Given the description of an element on the screen output the (x, y) to click on. 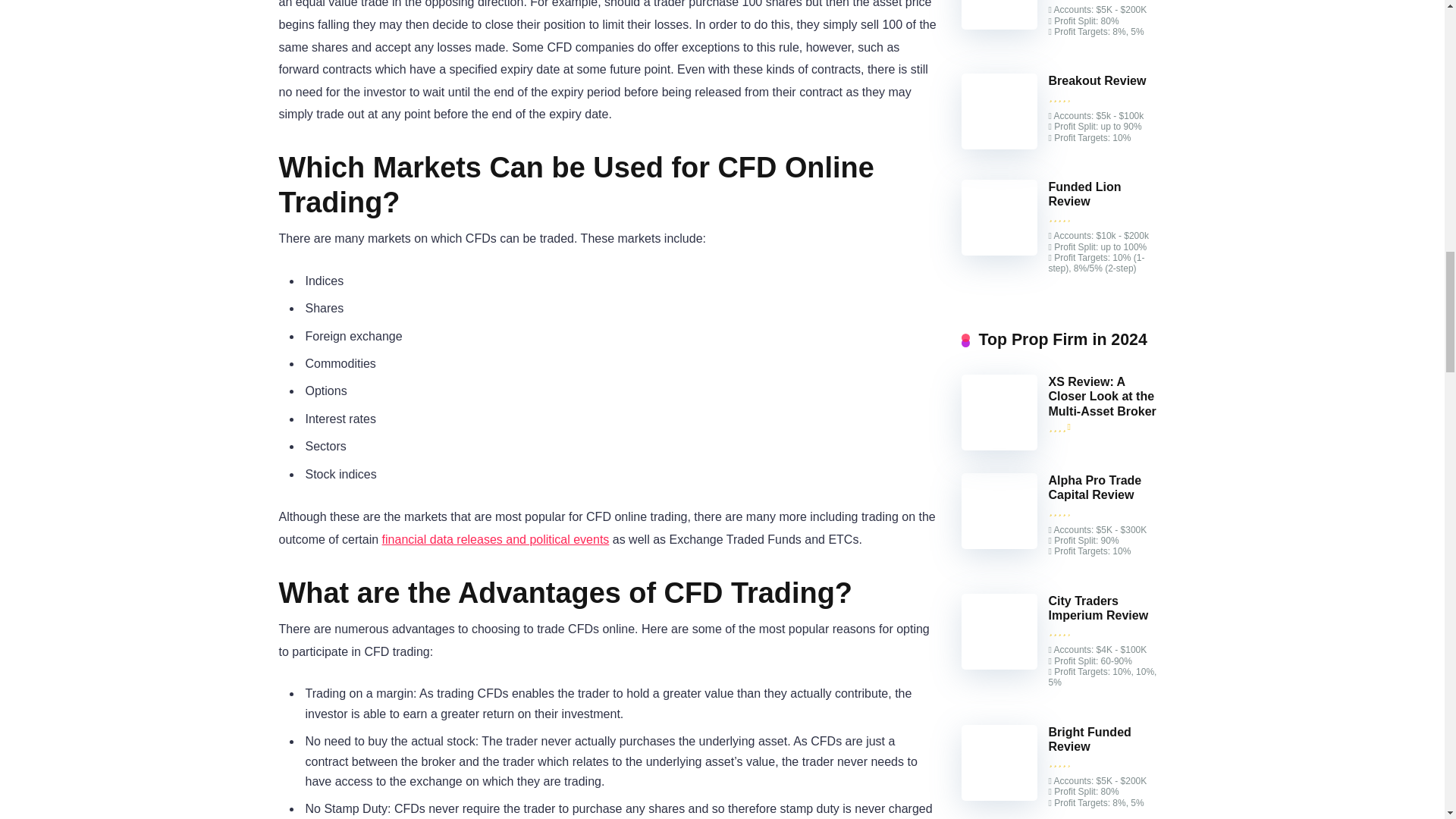
financial data releases and political events (495, 539)
